Given the description of an element on the screen output the (x, y) to click on. 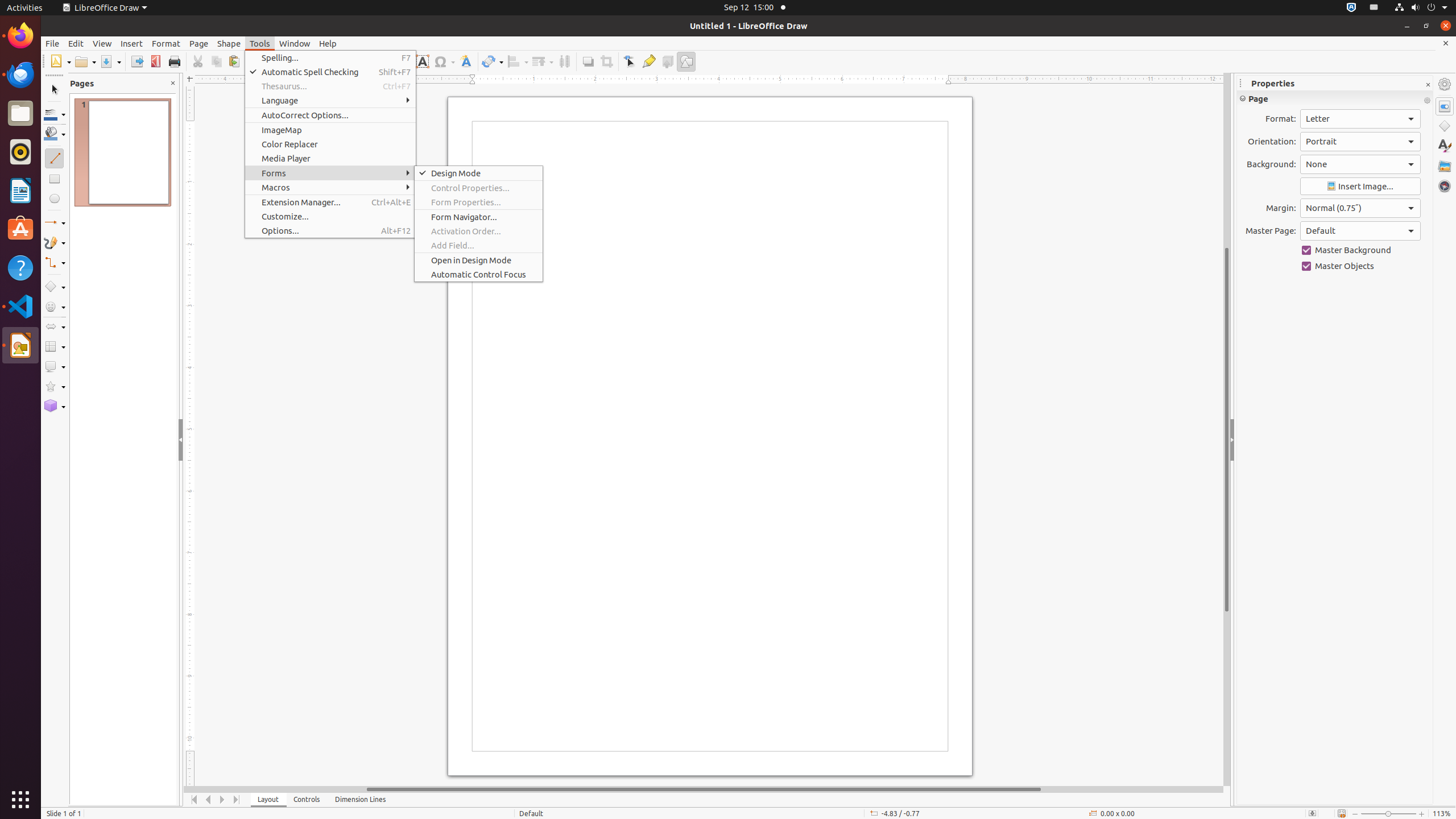
Master Objects Element type: check-box (1360, 265)
Macros Element type: menu (330, 187)
Align Element type: push-button (517, 61)
Control Properties... Element type: menu-item (478, 187)
